Given the description of an element on the screen output the (x, y) to click on. 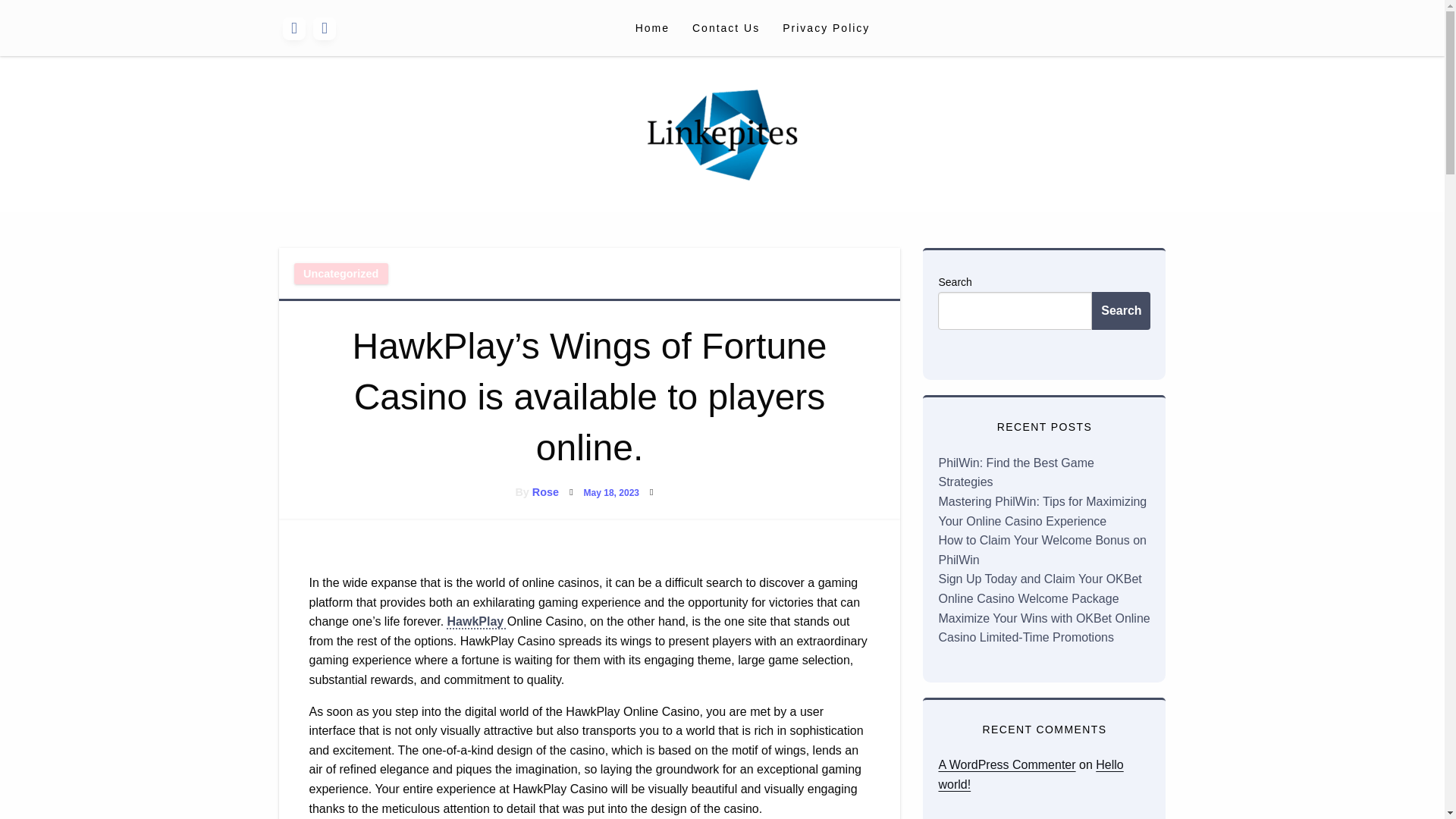
May 18, 2023 (611, 492)
Hello world! (1029, 774)
Privacy Policy (825, 27)
Uncategorized (341, 273)
A WordPress Commenter (1006, 764)
Rose (545, 491)
HawkPlay (476, 621)
Search (1121, 310)
